Given the description of an element on the screen output the (x, y) to click on. 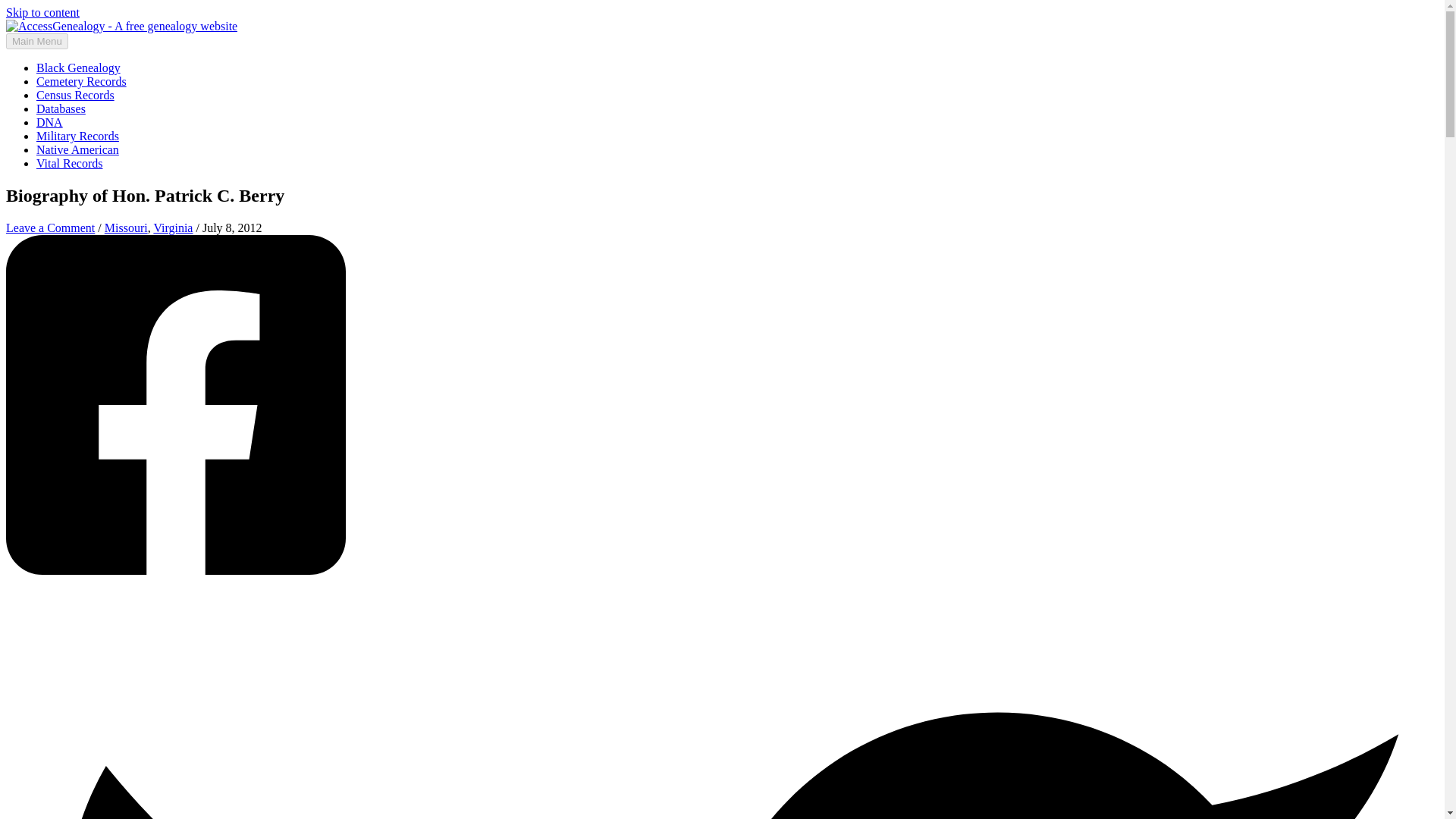
Cemetery Records (81, 81)
DNA (49, 122)
Military Records (77, 135)
United States Vital Records (68, 163)
Genealogy Databases (60, 108)
Skip to content (42, 11)
Vital Records (68, 163)
Black Genealogy (78, 67)
Native American (77, 149)
Leave a Comment (49, 227)
Virginia (172, 227)
DNA (49, 122)
Native American History and Genealogy (77, 149)
Missouri (126, 227)
Databases (60, 108)
